Given the description of an element on the screen output the (x, y) to click on. 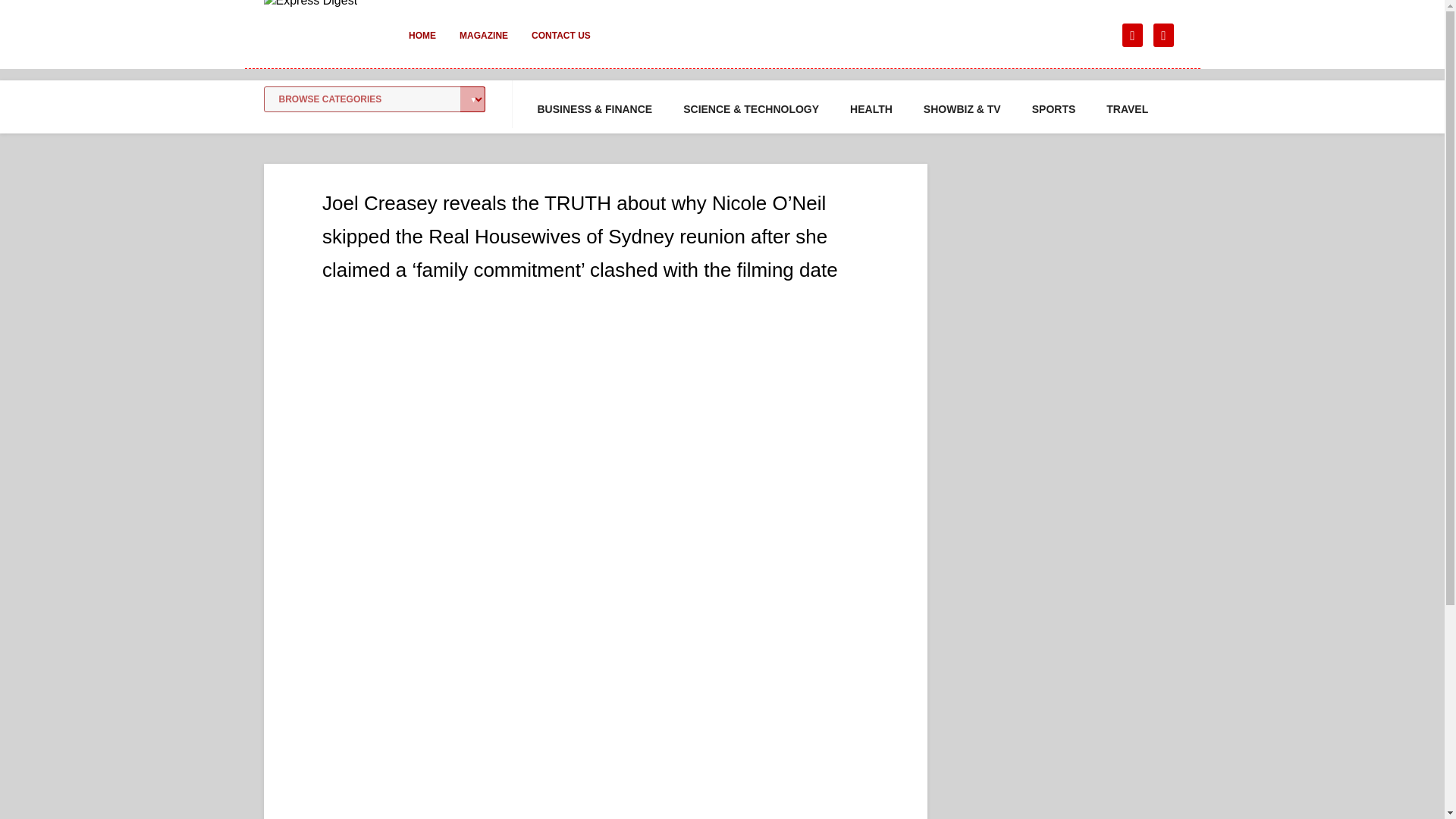
HEALTH (871, 109)
SPORTS (1053, 109)
CONTACT US (560, 45)
MAGAZINE (482, 45)
TRAVEL (1127, 109)
